Given the description of an element on the screen output the (x, y) to click on. 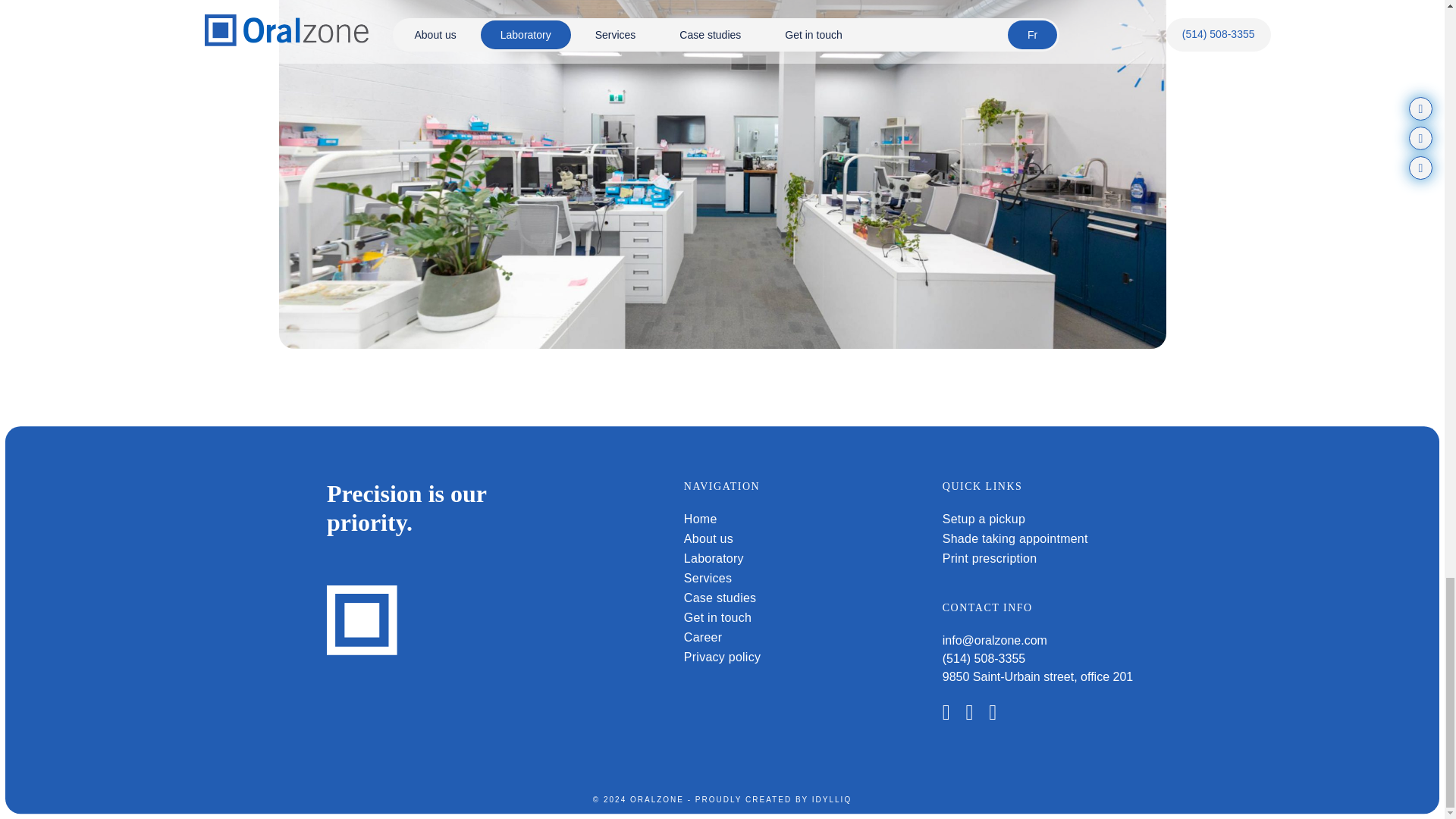
Career (703, 636)
Services (708, 577)
Setup a pickup (983, 518)
Laboratory (714, 558)
Shade taking appointment (1014, 538)
Get in touch (717, 617)
Home (700, 518)
Case studies (720, 597)
Privacy policy (722, 656)
Print prescription (989, 558)
About us (708, 538)
